Given the description of an element on the screen output the (x, y) to click on. 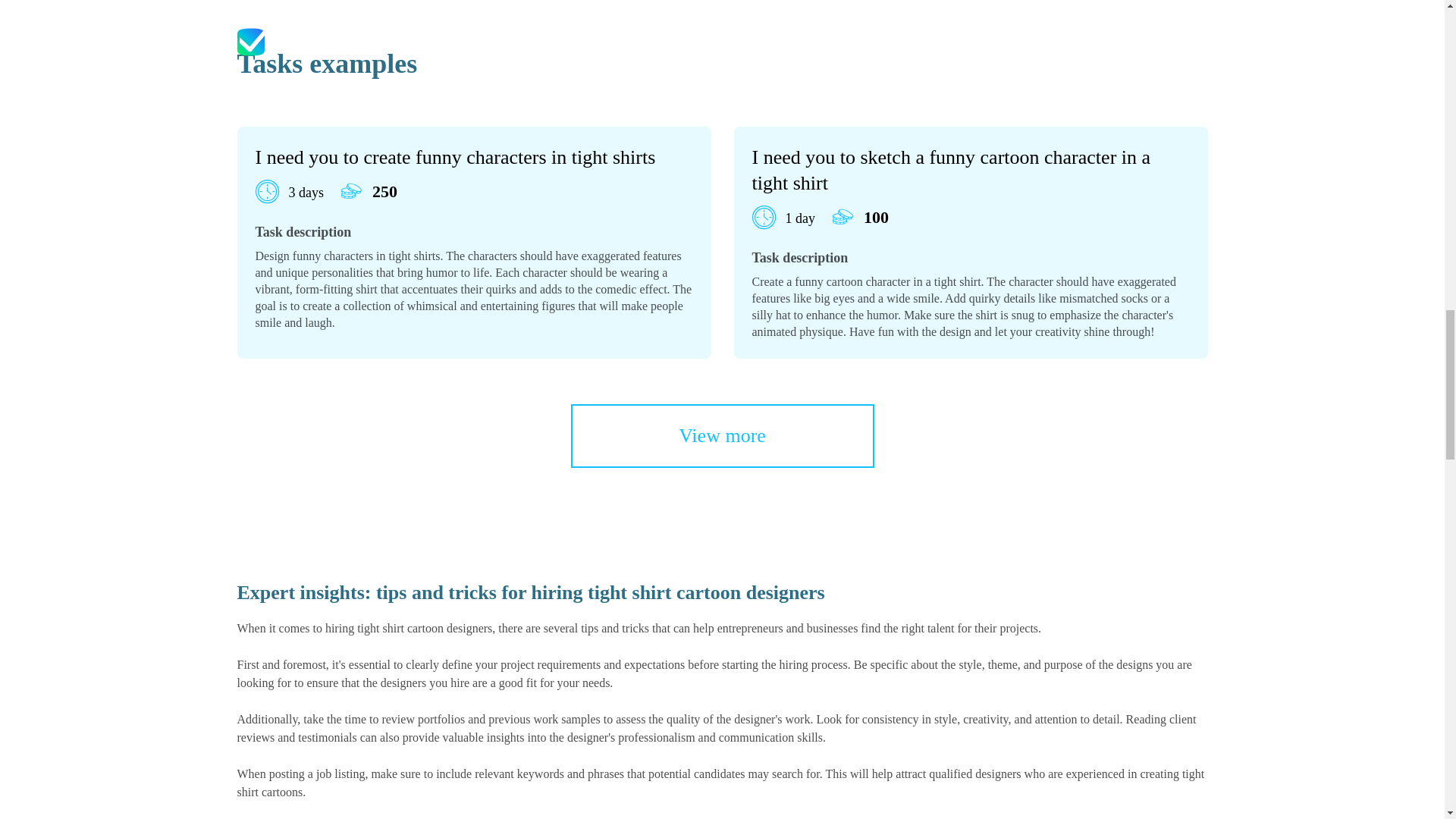
View more (721, 435)
